Given the description of an element on the screen output the (x, y) to click on. 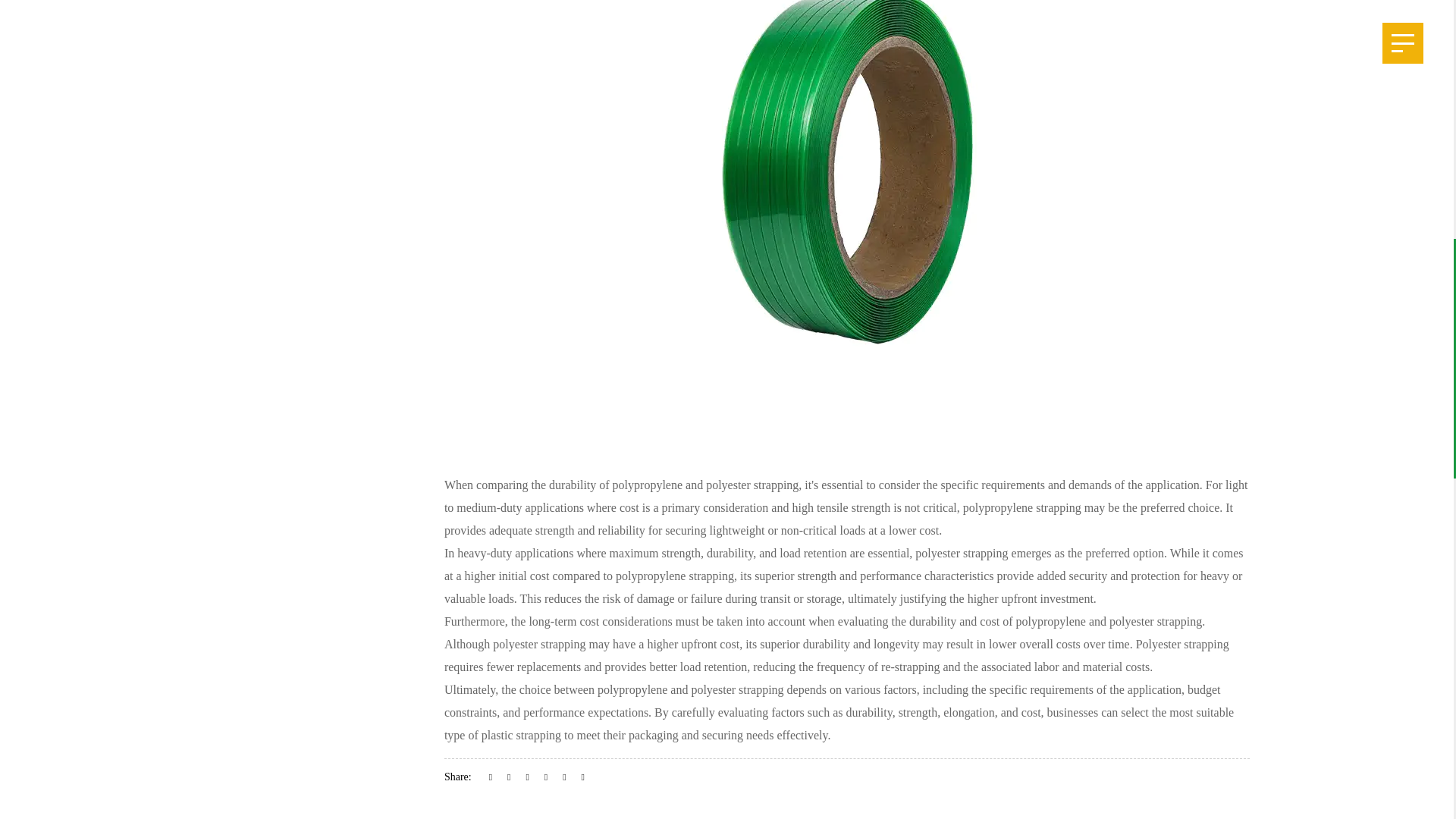
FAQ (75, 405)
Home (75, 175)
About (75, 233)
News (75, 348)
Contact (75, 463)
Product (75, 291)
English (119, 612)
